Given the description of an element on the screen output the (x, y) to click on. 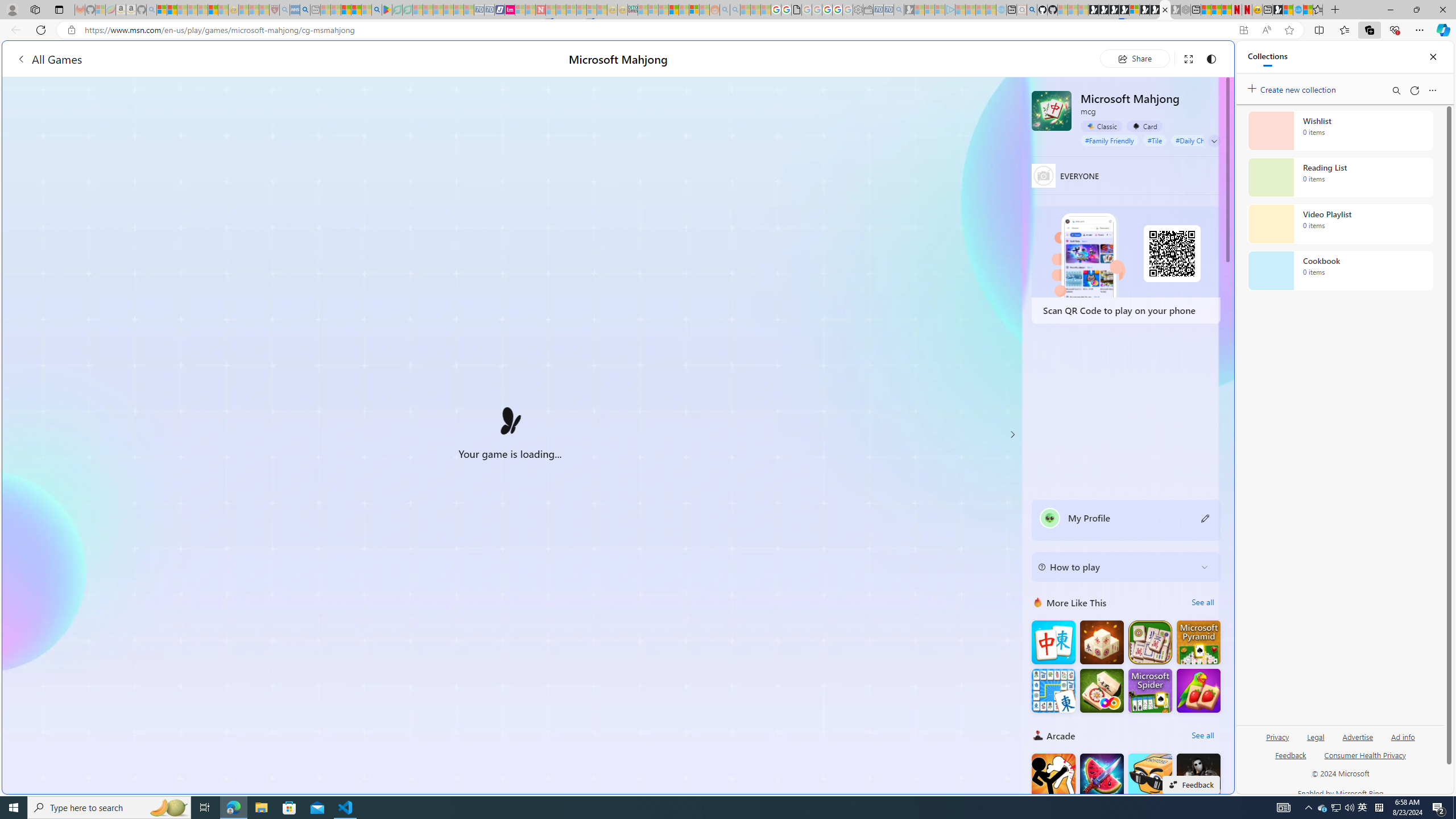
Close split screen (1208, 57)
utah sues federal government - Search (304, 9)
Pets - MSN (356, 9)
Microsoft Spider Solitaire (1149, 690)
utah sues federal government - Search (922, 389)
